Given the description of an element on the screen output the (x, y) to click on. 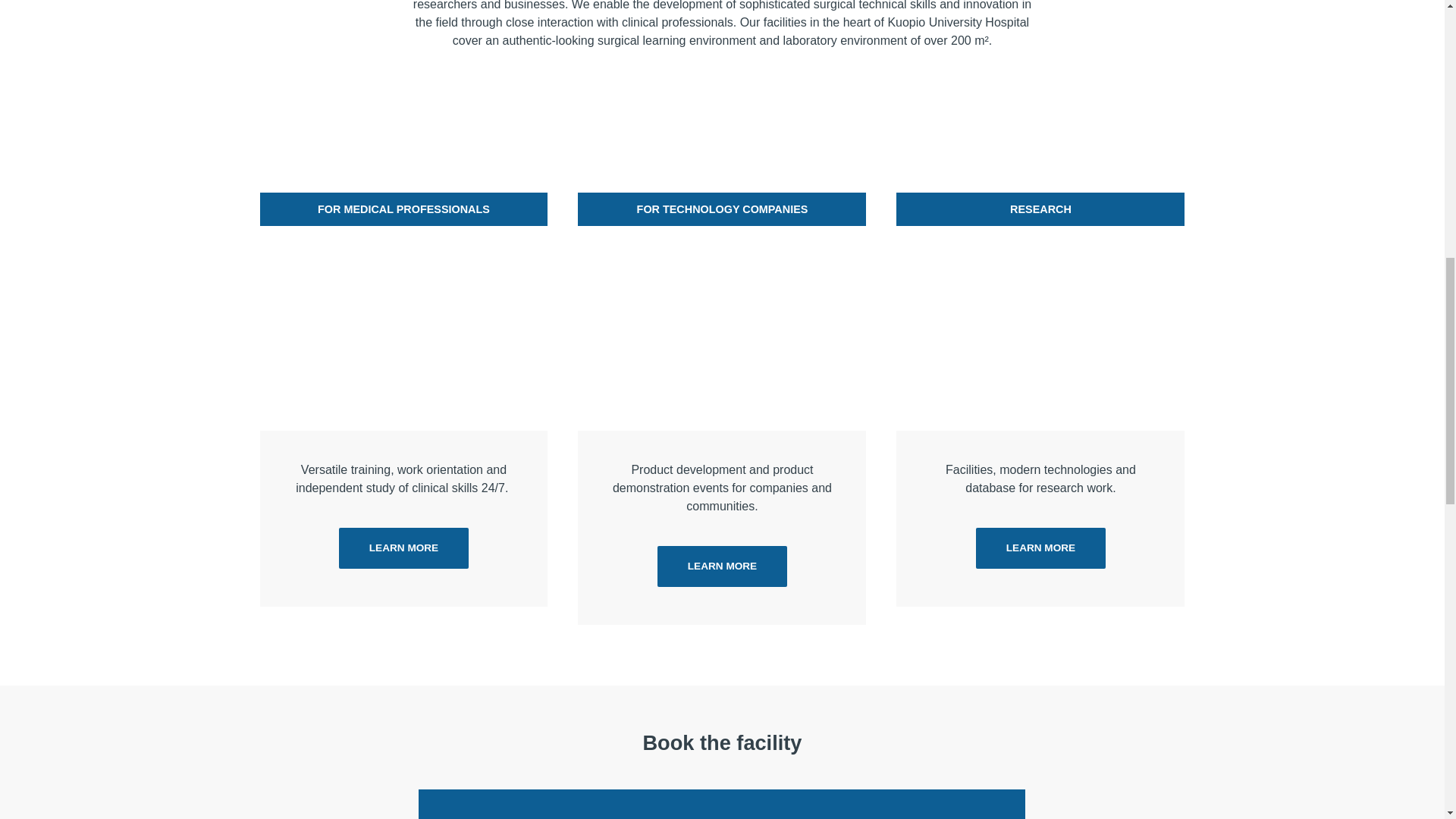
LEARN MORE (722, 566)
LEARN MORE (1040, 547)
LEARN MORE (403, 547)
